Given the description of an element on the screen output the (x, y) to click on. 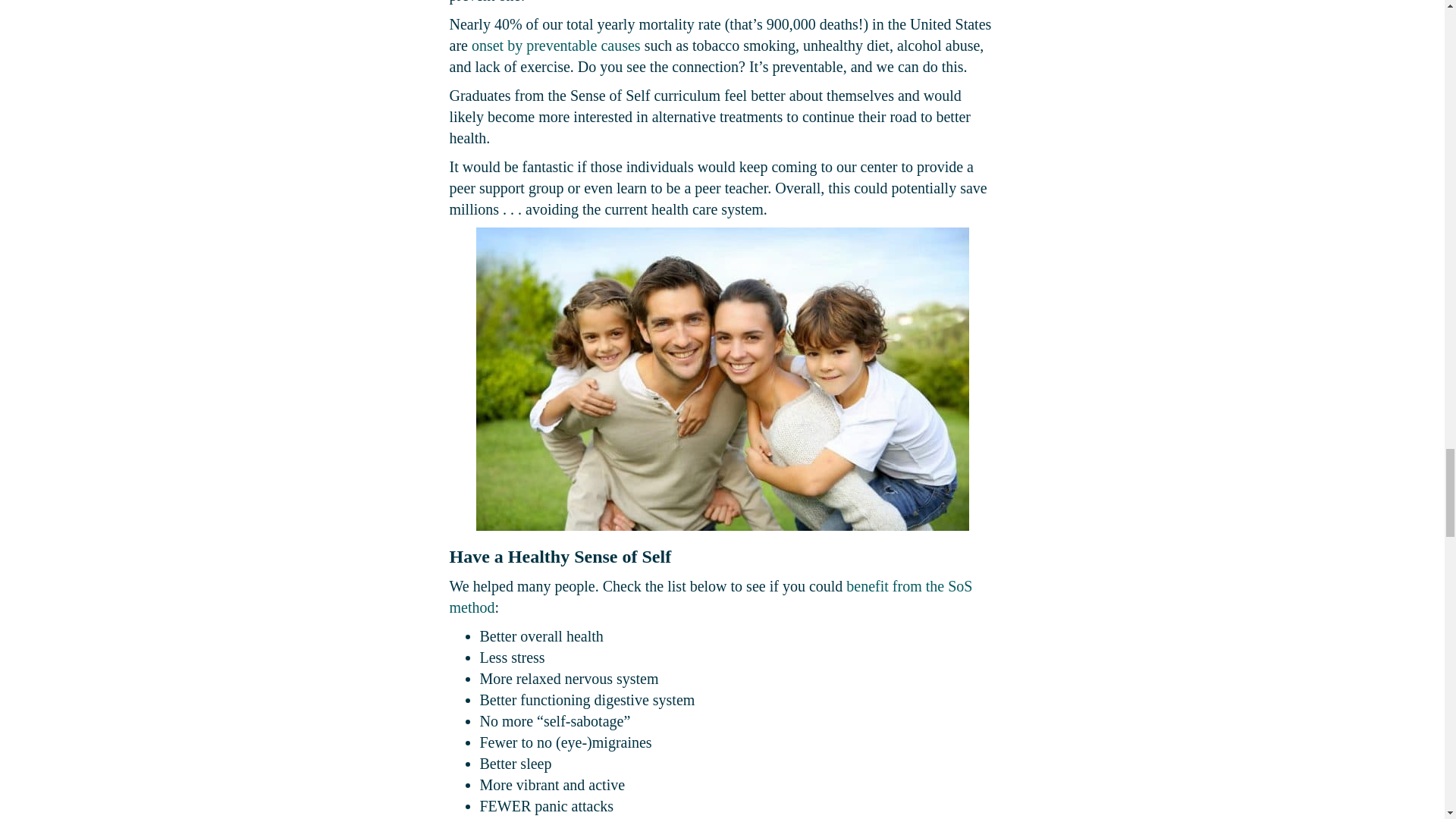
onset by preventable causes (555, 45)
benefit from the SoS method (710, 596)
